Given the description of an element on the screen output the (x, y) to click on. 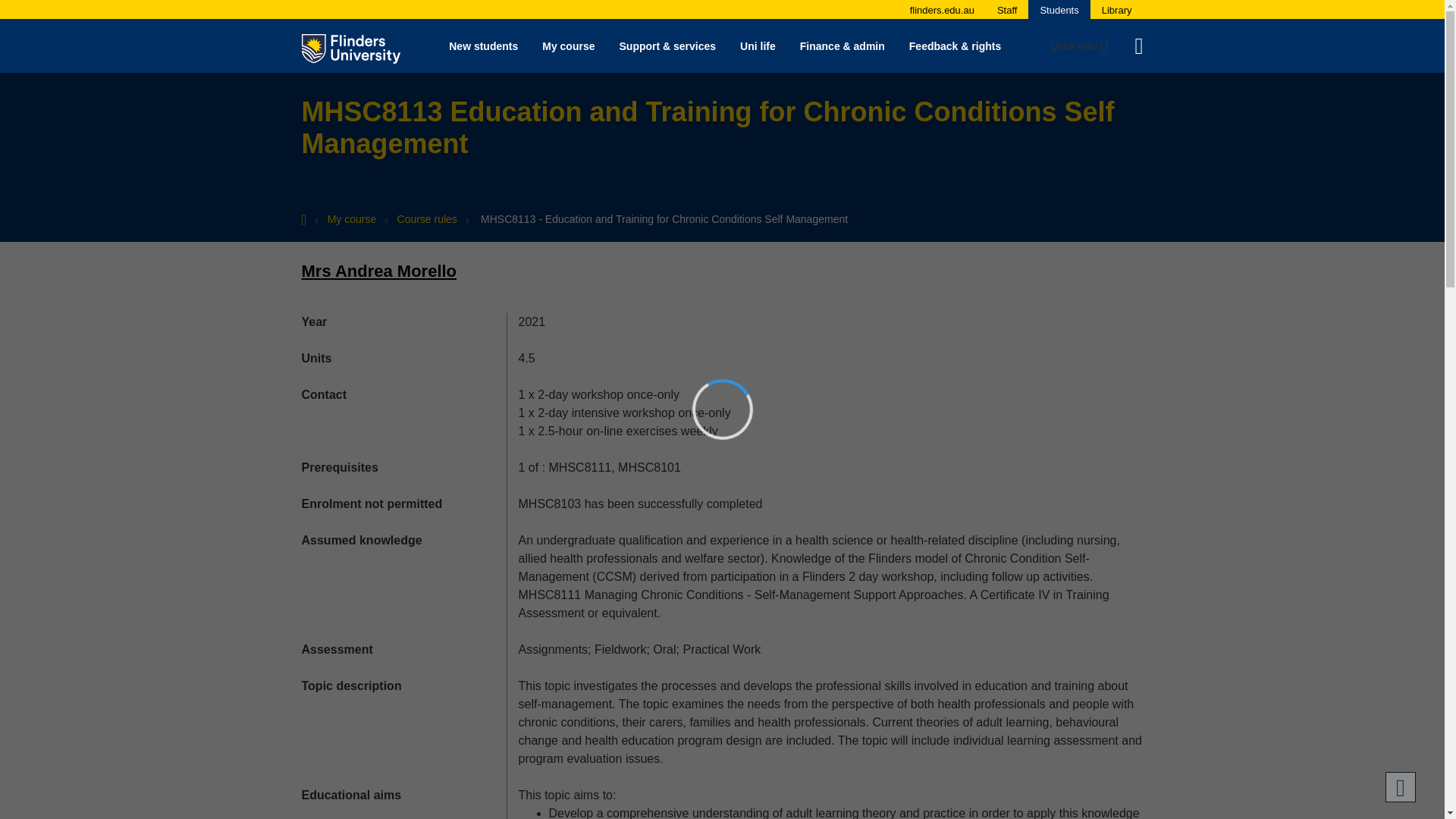
Students (1058, 9)
Library (1117, 9)
New students (482, 45)
My course (568, 45)
flinders.edu.au (942, 9)
Staff (1007, 9)
Back to top (1400, 787)
